Given the description of an element on the screen output the (x, y) to click on. 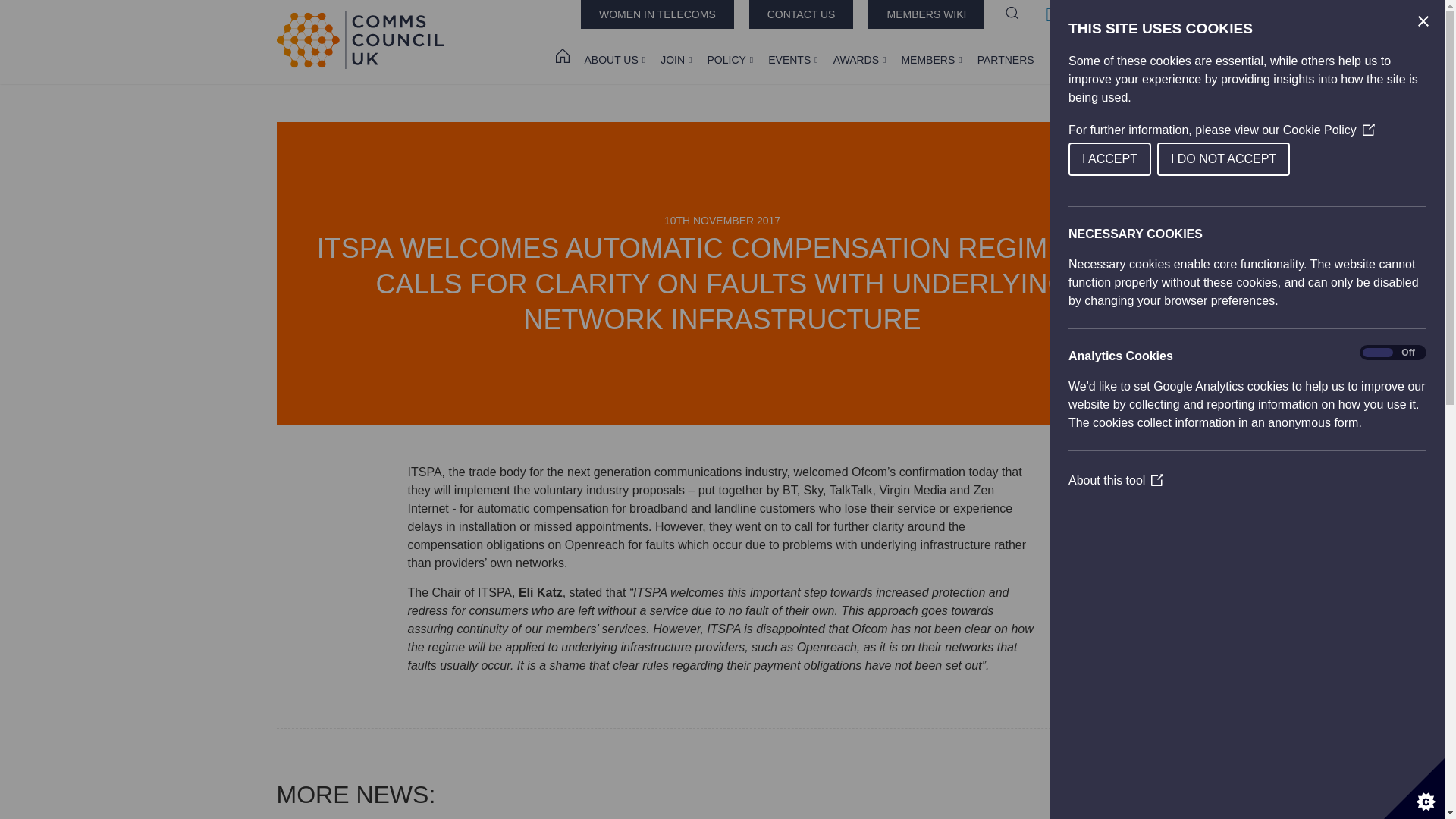
I DO NOT ACCEPT (1319, 159)
ABOUT US (614, 58)
I ACCEPT (1275, 159)
AWARDS (859, 58)
JOIN (676, 58)
WOMEN IN TELECOMS (656, 14)
CONTACT US (801, 14)
POLICY (729, 58)
EVENTS (792, 58)
MEMBERS WIKI (925, 14)
